Given the description of an element on the screen output the (x, y) to click on. 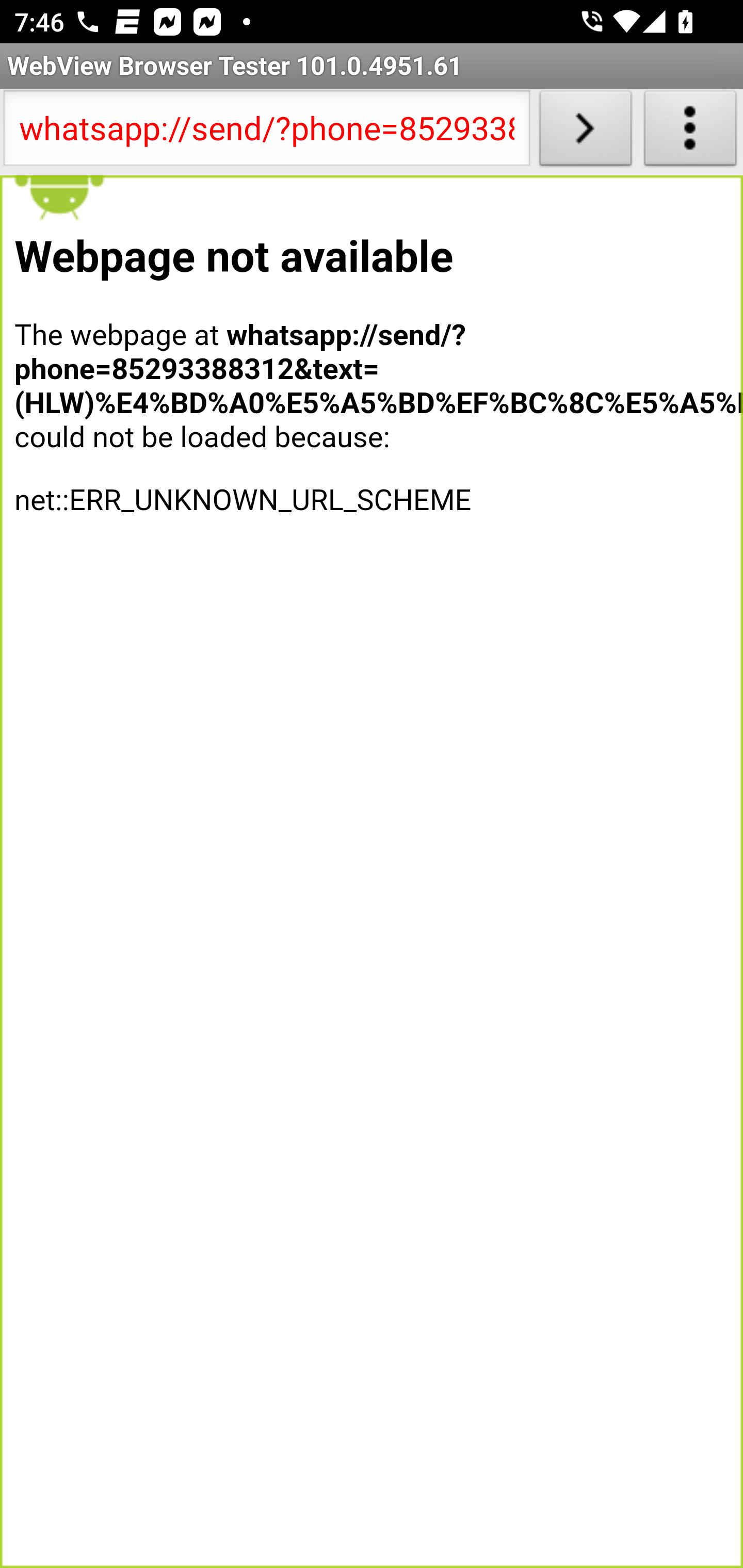
Load URL (585, 132)
About WebView (690, 132)
